Given the description of an element on the screen output the (x, y) to click on. 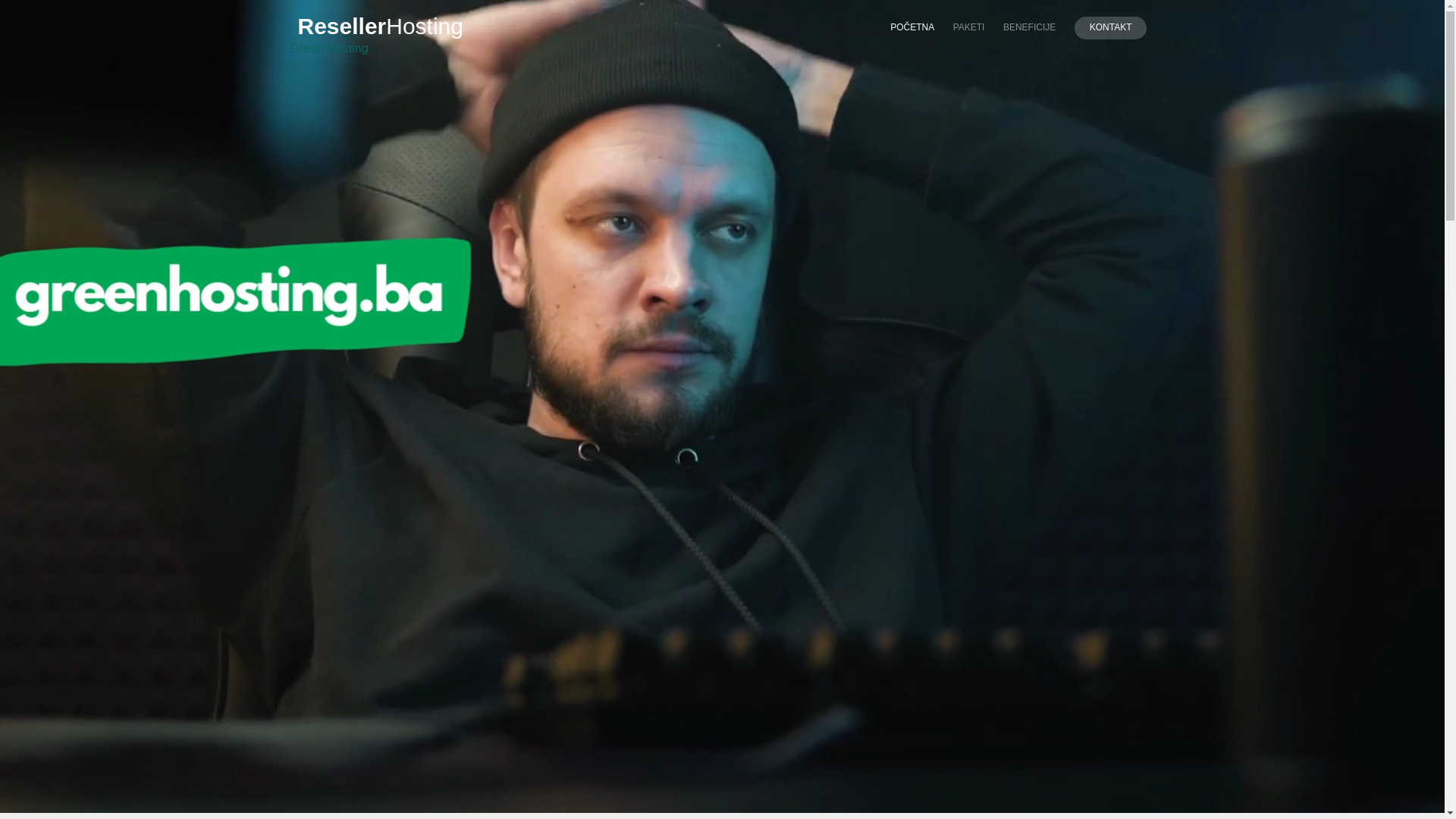
ResellerHosting Element type: text (379, 25)
Green Hosting Element type: text (328, 47)
